Given the description of an element on the screen output the (x, y) to click on. 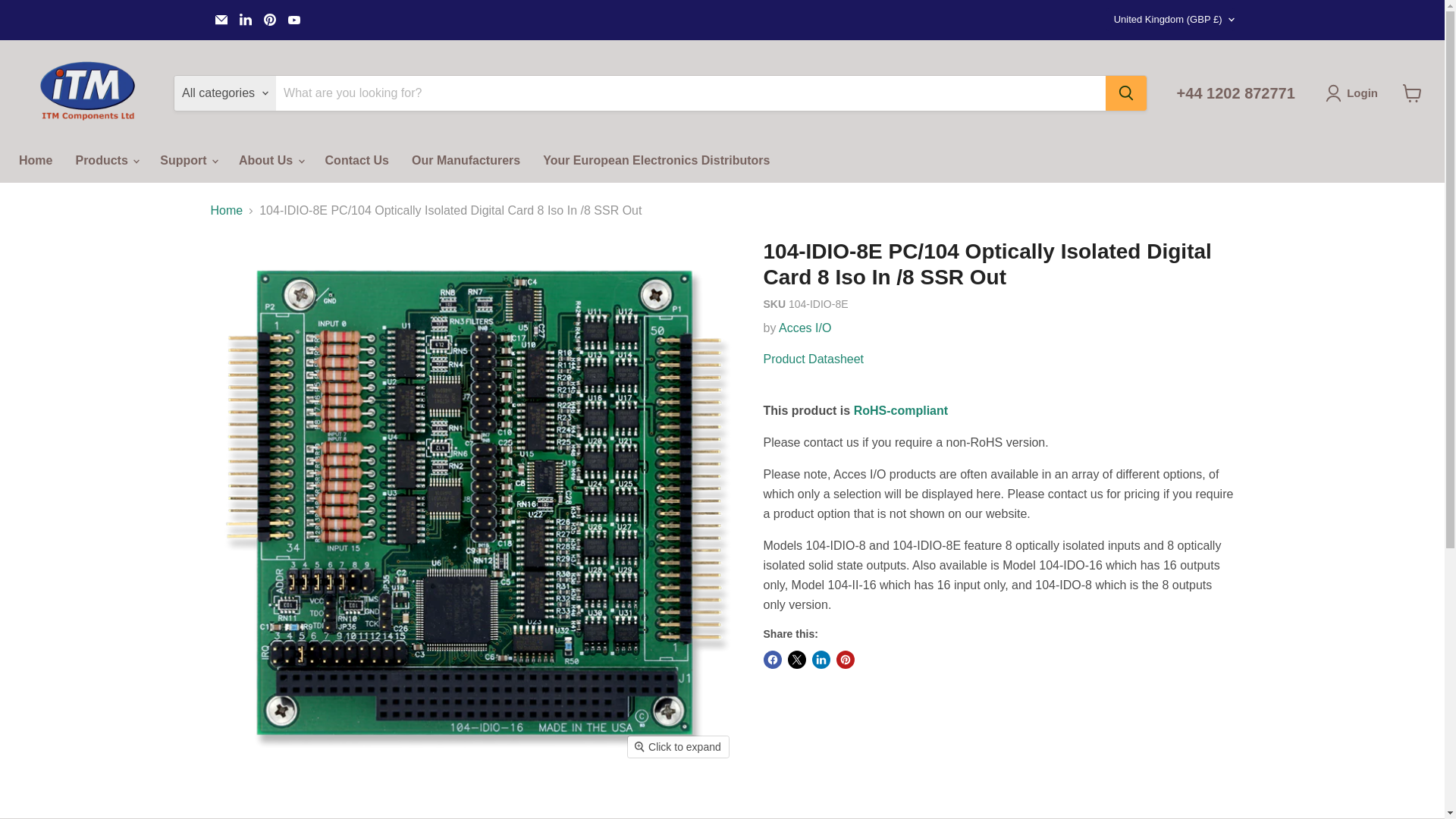
Find us on LinkedIn (245, 19)
LinkedIn (245, 19)
Find us on YouTube (293, 19)
YouTube (293, 19)
Email ITM Components (221, 19)
Email (221, 19)
Pinterest (270, 19)
Find us on Pinterest (270, 19)
